Given the description of an element on the screen output the (x, y) to click on. 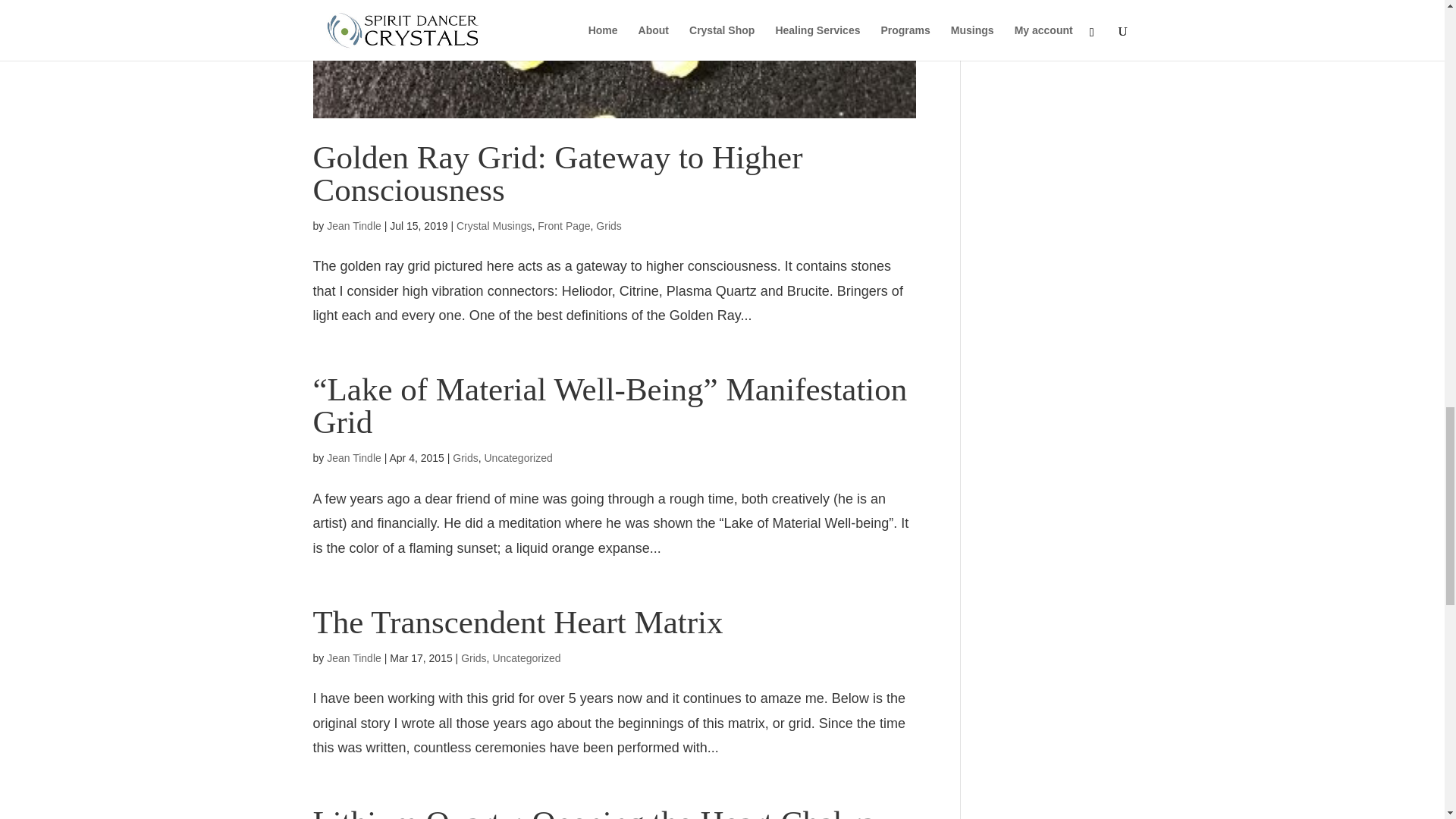
Front Page (563, 225)
Grids (473, 657)
Posts by Jean Tindle (353, 458)
Uncategorized (526, 657)
The Transcendent Heart Matrix (517, 621)
Uncategorized (517, 458)
Jean Tindle (353, 657)
Jean Tindle (353, 225)
Golden Ray Grid: Gateway to Higher Consciousness (557, 173)
Grids (608, 225)
Posts by Jean Tindle (353, 225)
Lithium Quartz: Opening the Heart Chakra (594, 811)
Grids (464, 458)
Posts by Jean Tindle (353, 657)
Jean Tindle (353, 458)
